Given the description of an element on the screen output the (x, y) to click on. 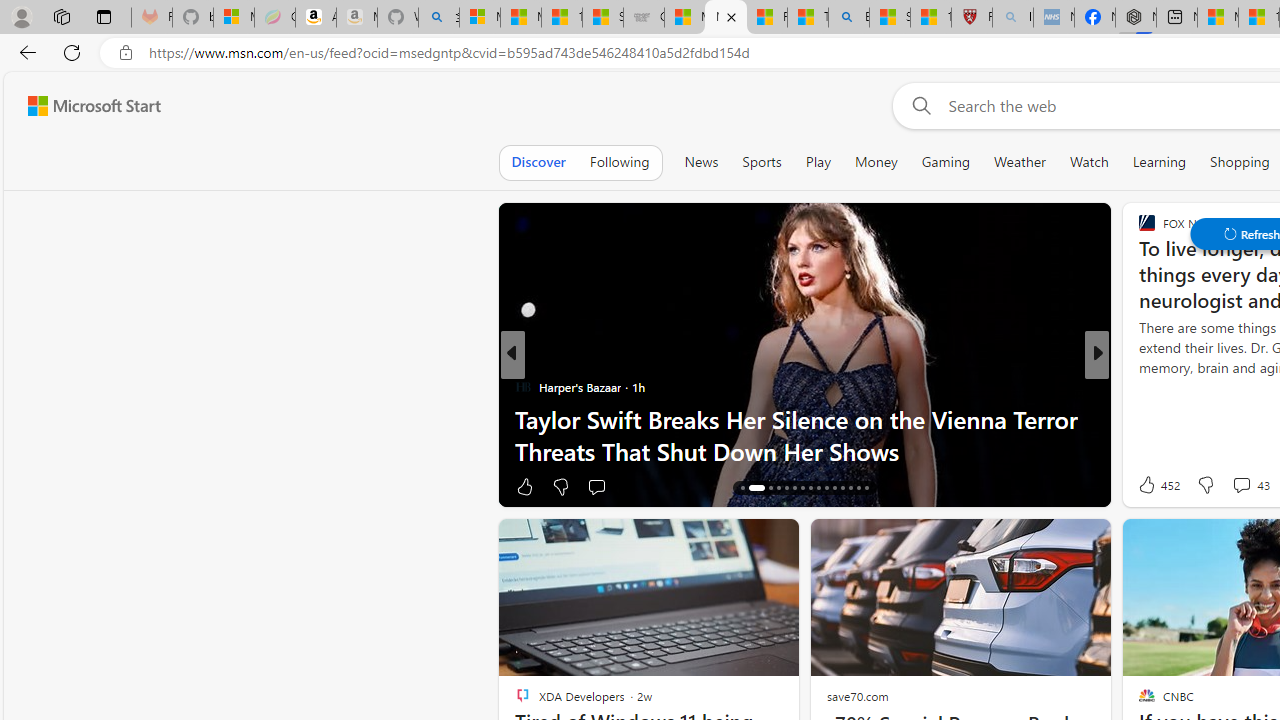
The Cool Down (1138, 386)
452 Like (1157, 484)
AutomationID: tab-17 (752, 487)
AutomationID: tab-24 (818, 487)
View comments 58 Comment (1237, 486)
AutomationID: tab-16 (742, 487)
View comments 496 Comment (1240, 486)
Learning (1159, 161)
View comments 43 Comment (1241, 485)
View comments 3 Comment (1228, 486)
